Given the description of an element on the screen output the (x, y) to click on. 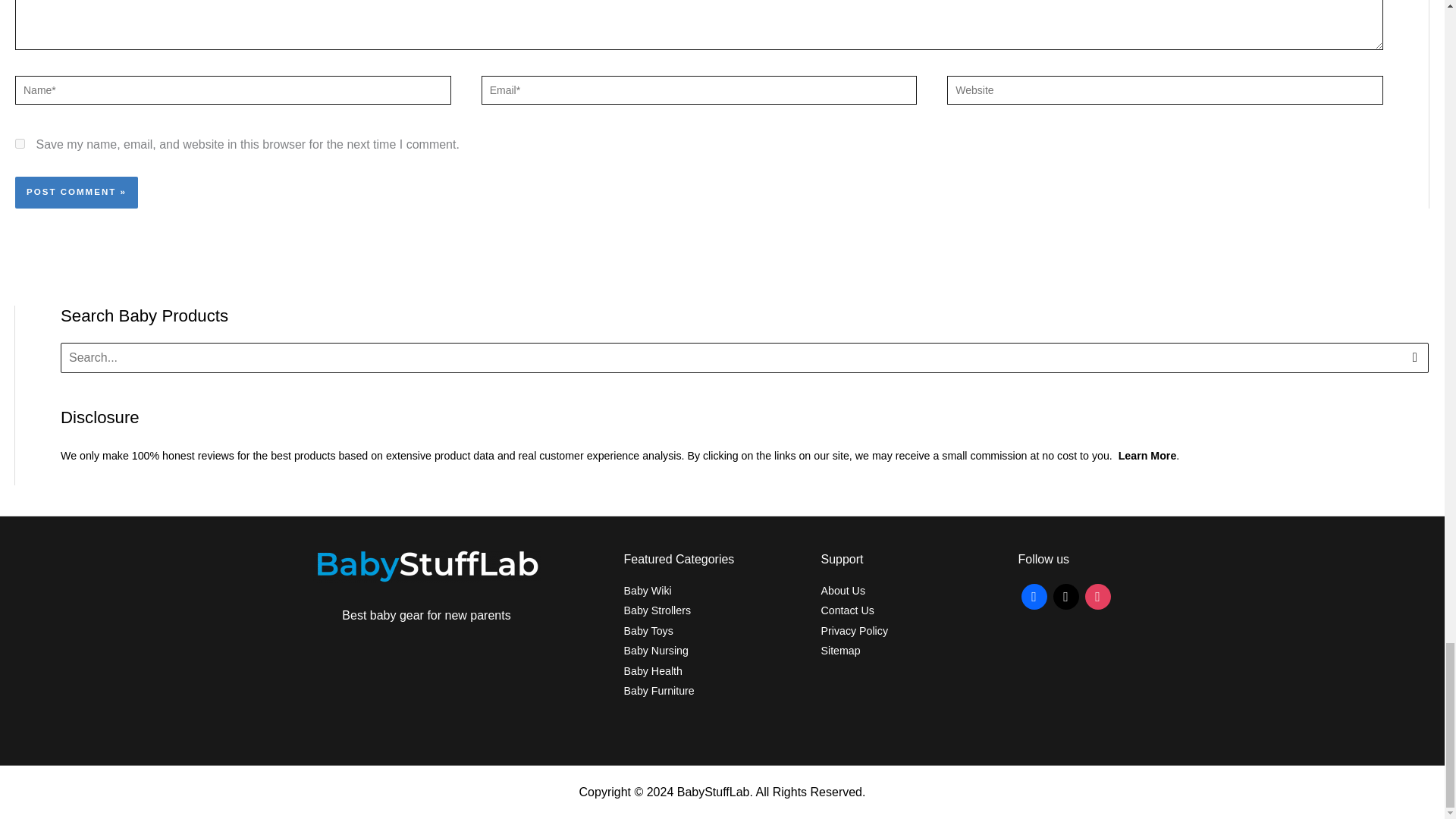
yes (19, 143)
Learn More (1147, 455)
Baby Wiki (647, 590)
